Given the description of an element on the screen output the (x, y) to click on. 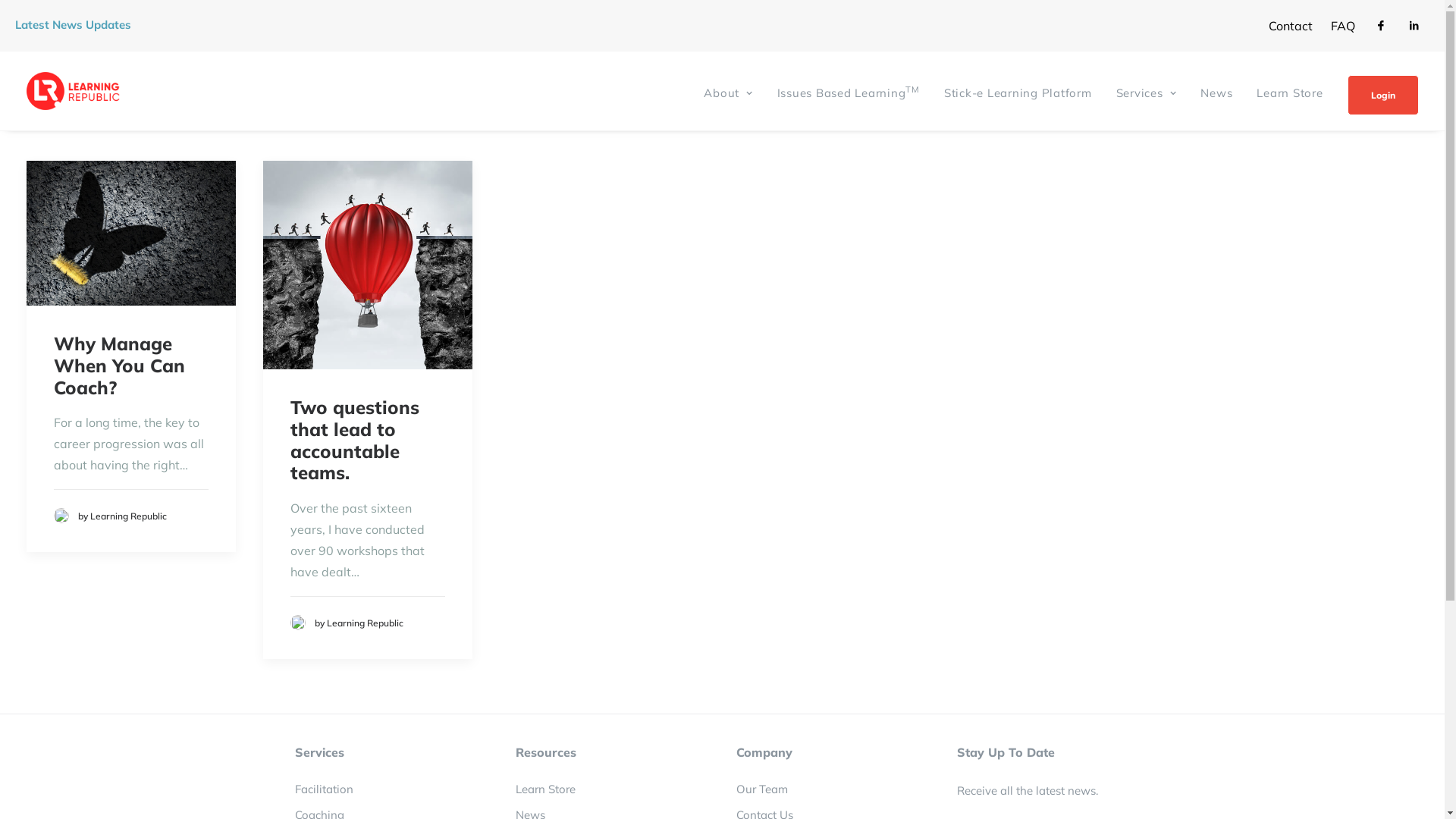
Receive all the latest news. Element type: text (1027, 790)
Learn Store Element type: text (1289, 90)
Learn Store Element type: text (545, 788)
About Element type: text (732, 90)
Services Element type: text (1146, 90)
Latest News Updates Element type: text (73, 24)
Contact Element type: text (1290, 25)
News Element type: text (1215, 90)
by Learning Republic Element type: text (109, 513)
Our Team Element type: text (761, 788)
Issues Based LearningTM Element type: text (848, 90)
Stick-e Learning Platform Element type: text (1017, 90)
by Learning Republic Element type: text (345, 620)
Why Manage When You Can Coach? Element type: text (118, 365)
Facilitation Element type: text (323, 788)
FAQ Element type: text (1342, 25)
Login Element type: text (1377, 95)
Two questions that lead to accountable teams. Element type: text (353, 439)
